Given the description of an element on the screen output the (x, y) to click on. 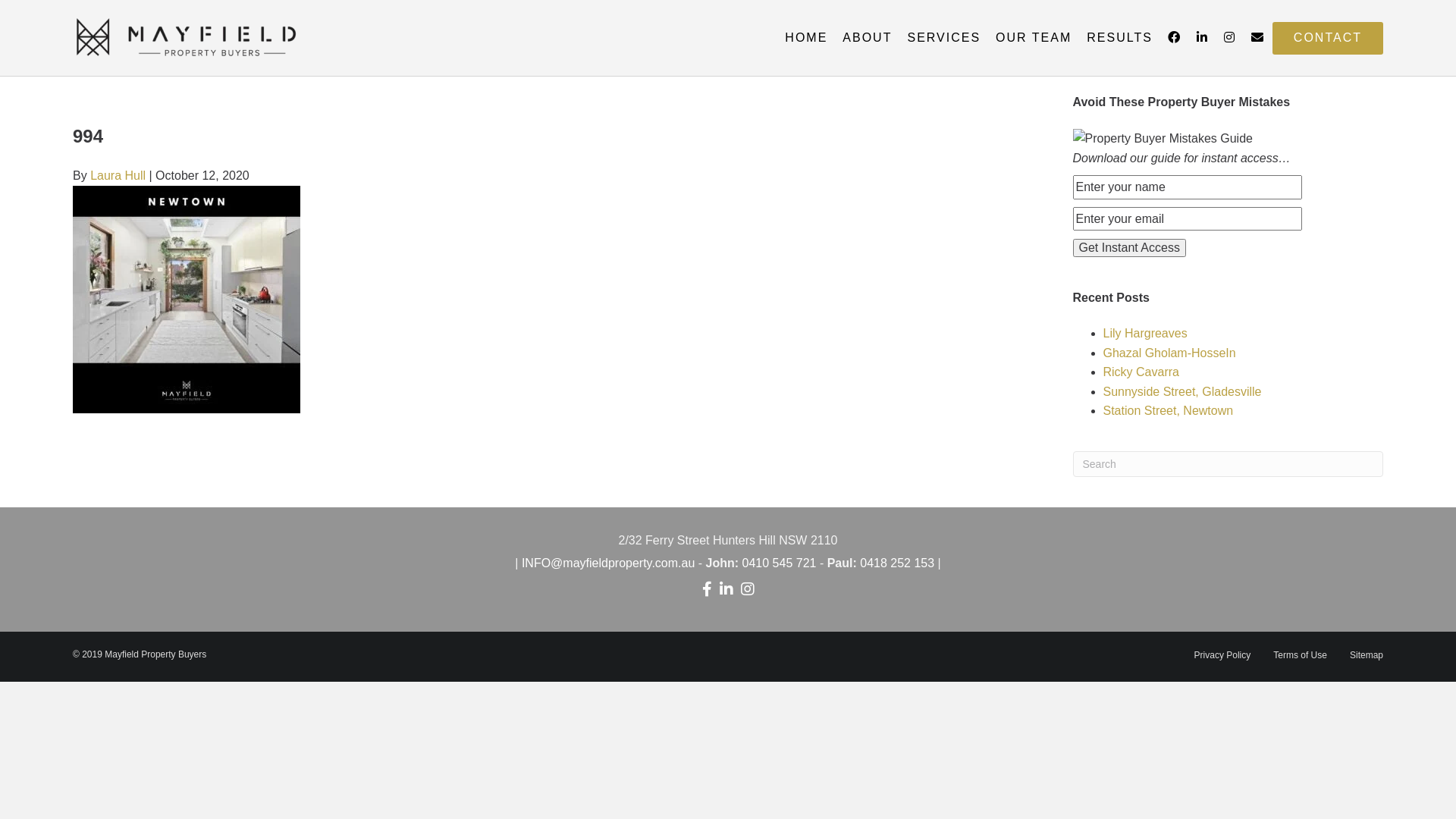
Get Instant Access Element type: text (1128, 247)
0418 252 153 Element type: text (896, 562)
Lily Hargreaves Element type: text (1144, 332)
SERVICES Element type: text (943, 37)
Privacy Policy Element type: text (1222, 660)
CONTACT Element type: text (1327, 37)
INFO@mayfieldproperty.com.au Element type: text (607, 562)
HOME Element type: text (805, 37)
Sitemap Element type: text (1366, 660)
Type and press Enter to search. Element type: hover (1227, 463)
Laura Hull Element type: text (117, 175)
Ricky Cavarra Element type: text (1140, 371)
RESULTS Element type: text (1119, 37)
Station Street, Newtown Element type: text (1167, 410)
OUR TEAM Element type: text (1033, 37)
ABOUT Element type: text (866, 37)
0410 545 721 Element type: text (779, 562)
Ghazal Gholam-HosseIn Element type: text (1168, 352)
Sunnyside Street, Gladesville Element type: text (1181, 391)
Terms of Use Element type: text (1299, 660)
